Given the description of an element on the screen output the (x, y) to click on. 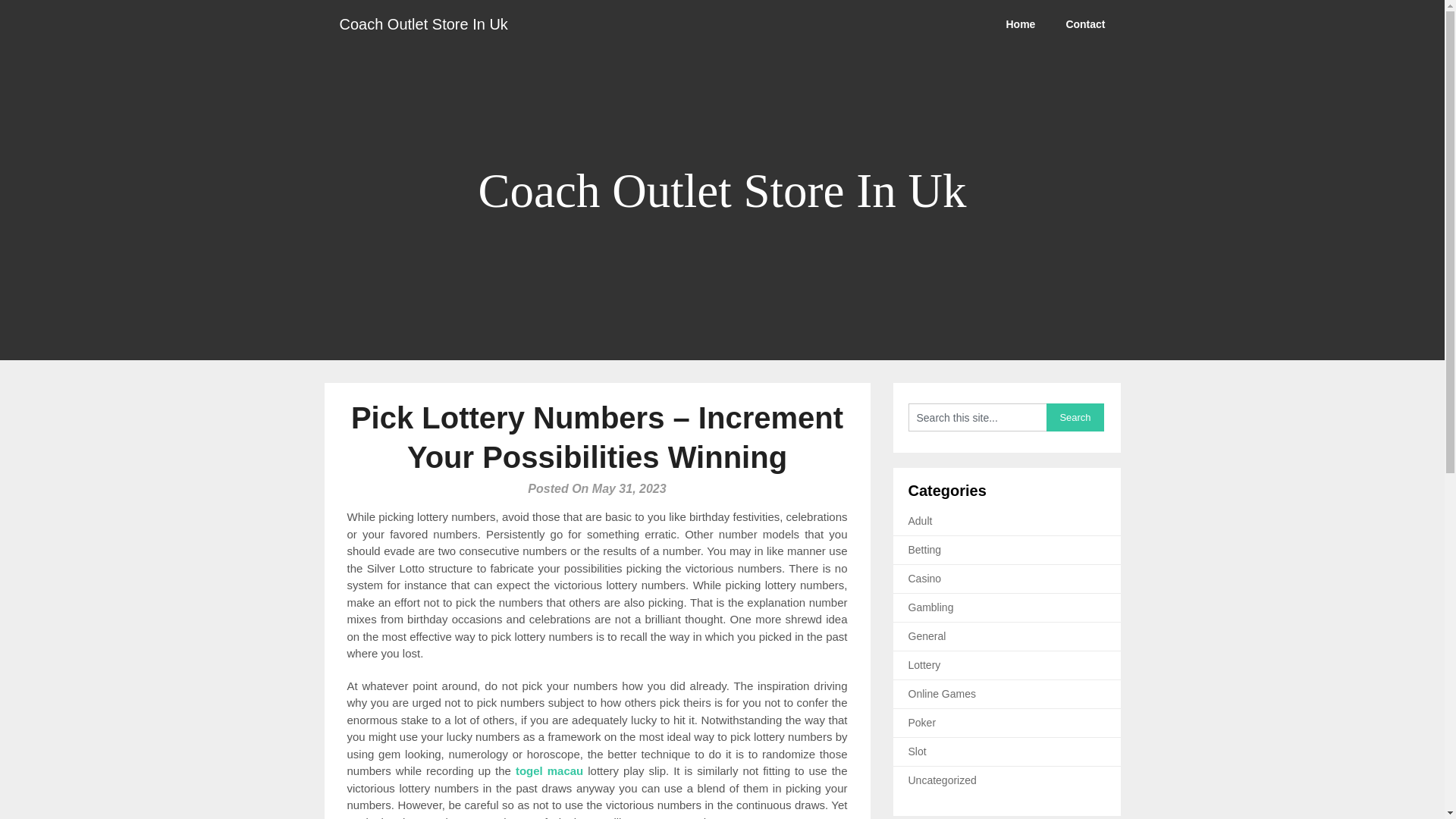
Betting (925, 549)
Gambling (930, 607)
Search this site... (977, 417)
Contact (1084, 24)
Search (1075, 417)
Poker (922, 722)
Online Games (941, 693)
Home (1019, 24)
Slot (917, 751)
Coach Outlet Store In Uk (423, 24)
General (927, 635)
Search (1075, 417)
togel macau (549, 770)
Lottery (924, 664)
Adult (920, 521)
